Given the description of an element on the screen output the (x, y) to click on. 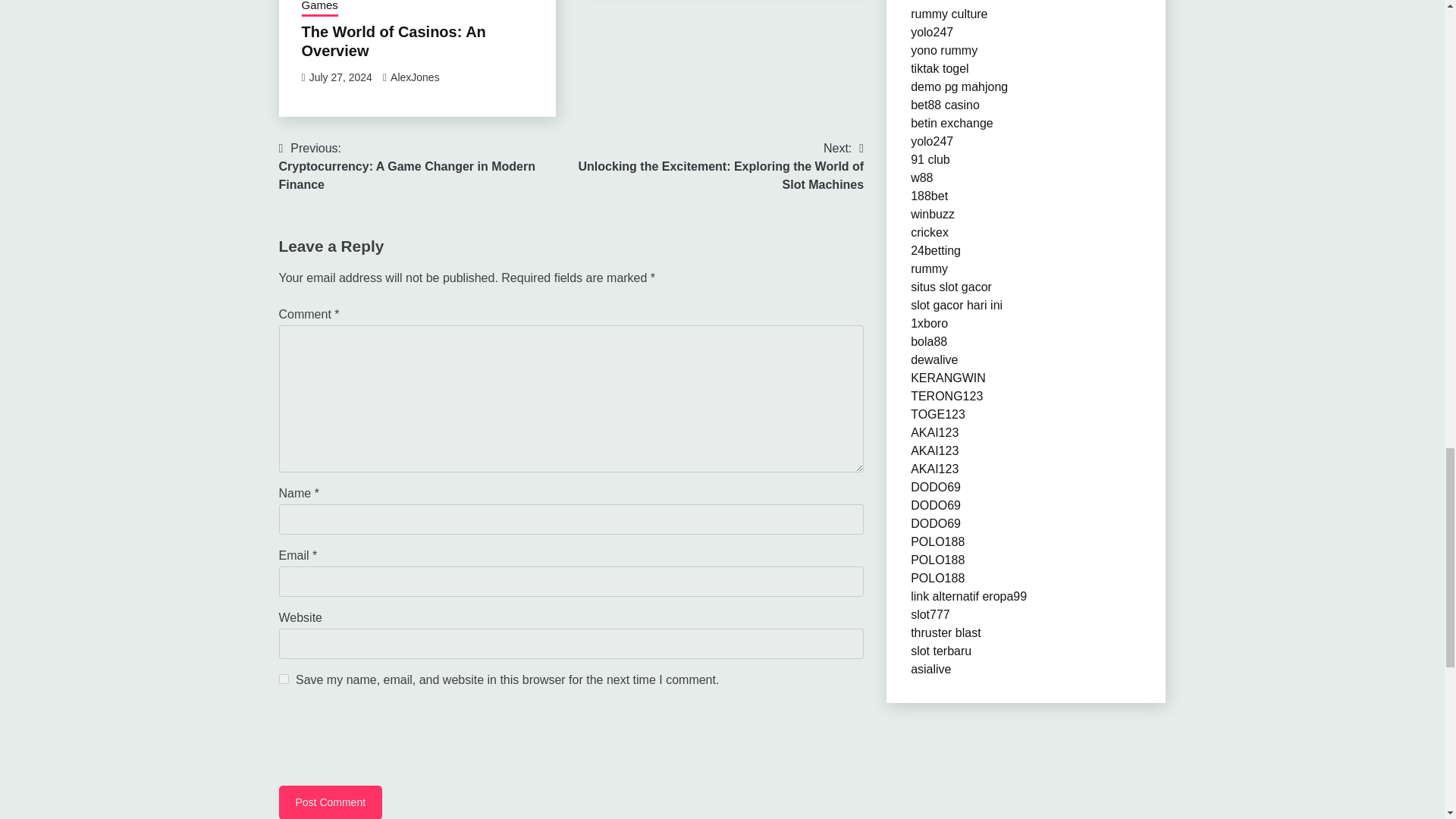
yes (283, 678)
Post Comment (330, 802)
Games (319, 8)
AlexJones (414, 77)
reCAPTCHA (394, 739)
July 27, 2024 (340, 77)
Post Comment (330, 802)
The World of Casinos: An Overview (425, 166)
